Given the description of an element on the screen output the (x, y) to click on. 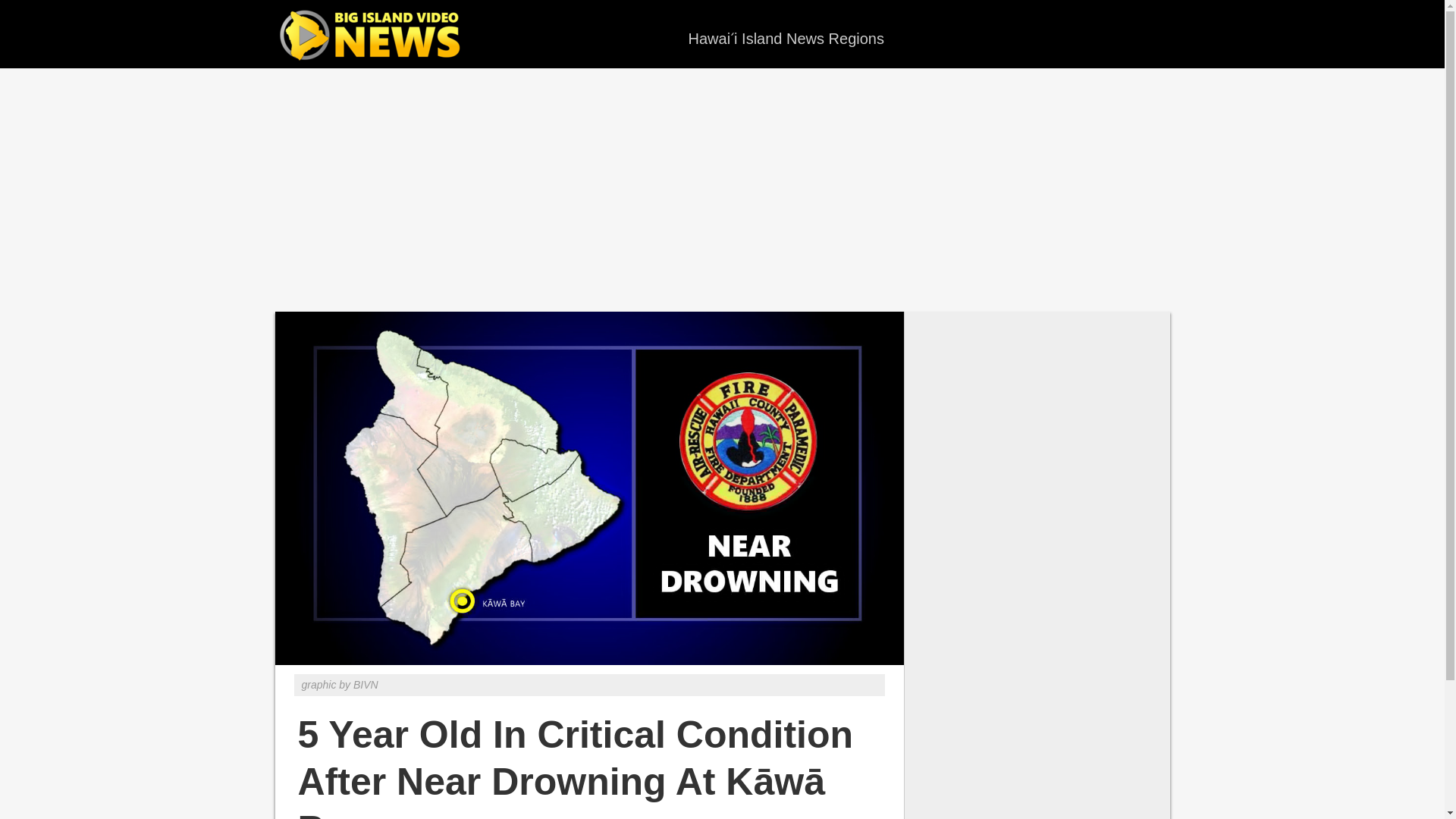
Big Island Video News (373, 35)
Advertisement (721, 190)
